Given the description of an element on the screen output the (x, y) to click on. 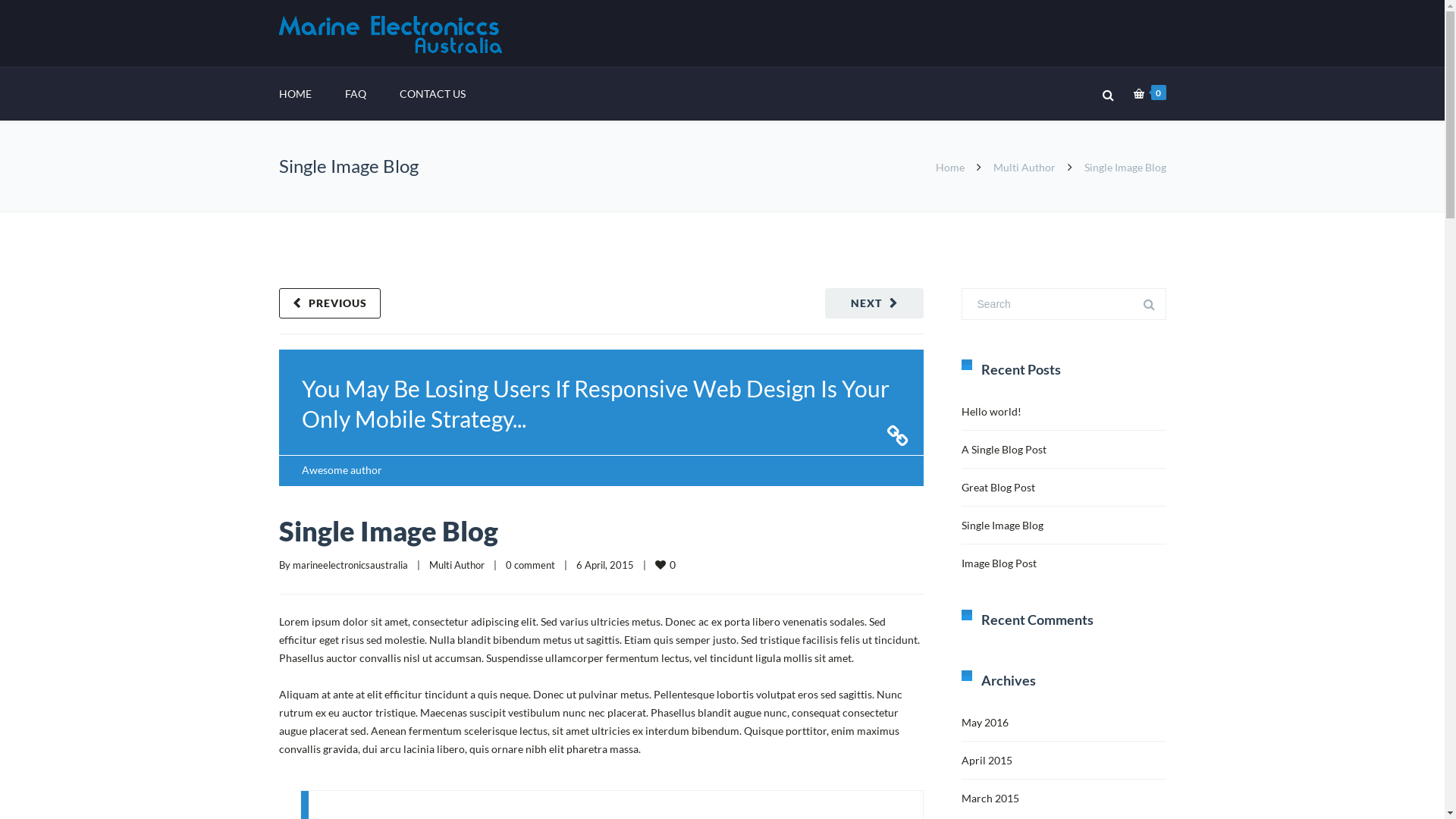
Image Blog Post Element type: text (998, 562)
0  Element type: text (666, 564)
A Single Blog Post Element type: text (1003, 448)
CONTACT US Element type: text (431, 93)
March 2015 Element type: text (990, 797)
FAQ Element type: text (354, 93)
Multi Author Element type: text (456, 564)
Single Image Blog Element type: text (1002, 524)
April 2015 Element type: text (986, 759)
Single Image Blog Element type: text (388, 530)
May 2016 Element type: text (984, 721)
Marine Electronics Australia Element type: hover (392, 34)
NEXT Element type: text (874, 303)
marineelectronicsaustralia Element type: text (349, 564)
Great Blog Post Element type: text (998, 486)
Hello world! Element type: text (991, 410)
HOME Element type: text (295, 93)
PREVIOUS Element type: text (329, 303)
Multi Author Element type: text (1024, 166)
0 comment Element type: text (529, 564)
Home Element type: text (949, 166)
